Given the description of an element on the screen output the (x, y) to click on. 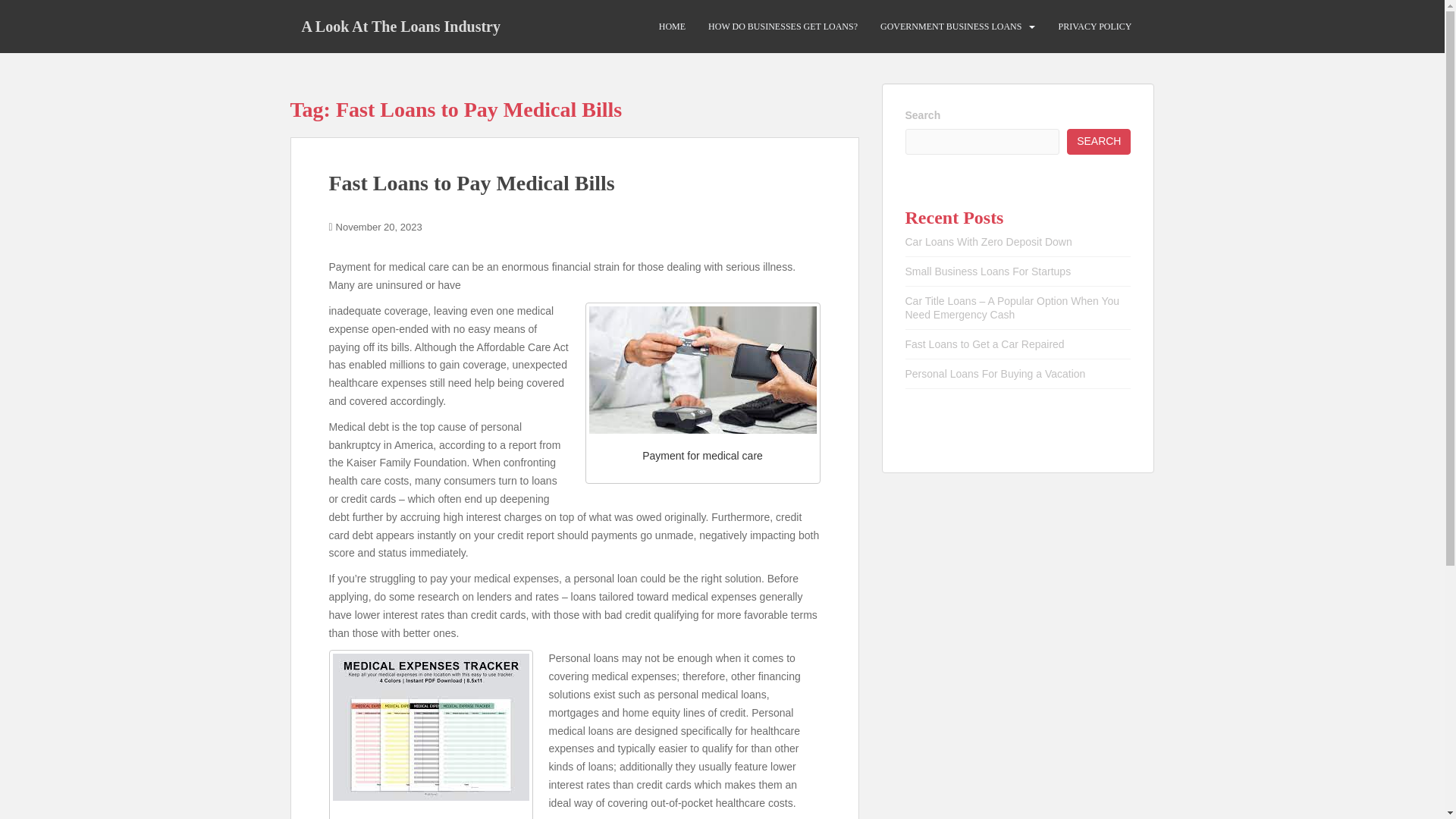
Fast Loans to Get a Car Repaired (984, 344)
Small Business Loans For Startups (988, 271)
Personal Loans For Buying a Vacation (995, 373)
A Look At The Loans Industry (400, 26)
November 20, 2023 (379, 226)
GOVERNMENT BUSINESS LOANS (951, 26)
Fast Loans to Pay Medical Bills (471, 182)
SEARCH (1099, 141)
PRIVACY POLICY (1094, 26)
Car Loans With Zero Deposit Down (988, 241)
A Look At The Loans Industry (400, 26)
HOW DO BUSINESSES GET LOANS? (782, 26)
